Given the description of an element on the screen output the (x, y) to click on. 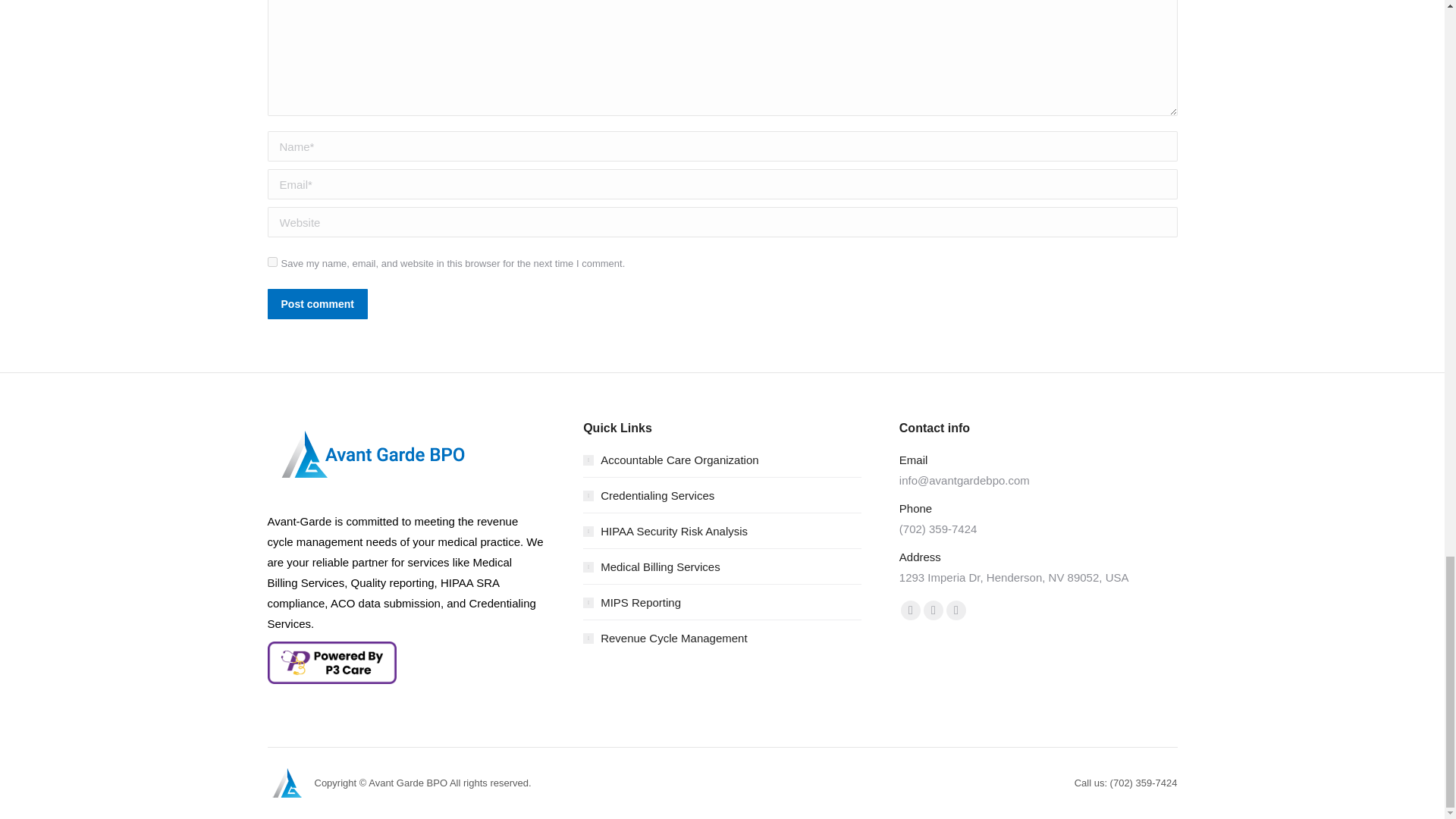
yes (271, 261)
